Given the description of an element on the screen output the (x, y) to click on. 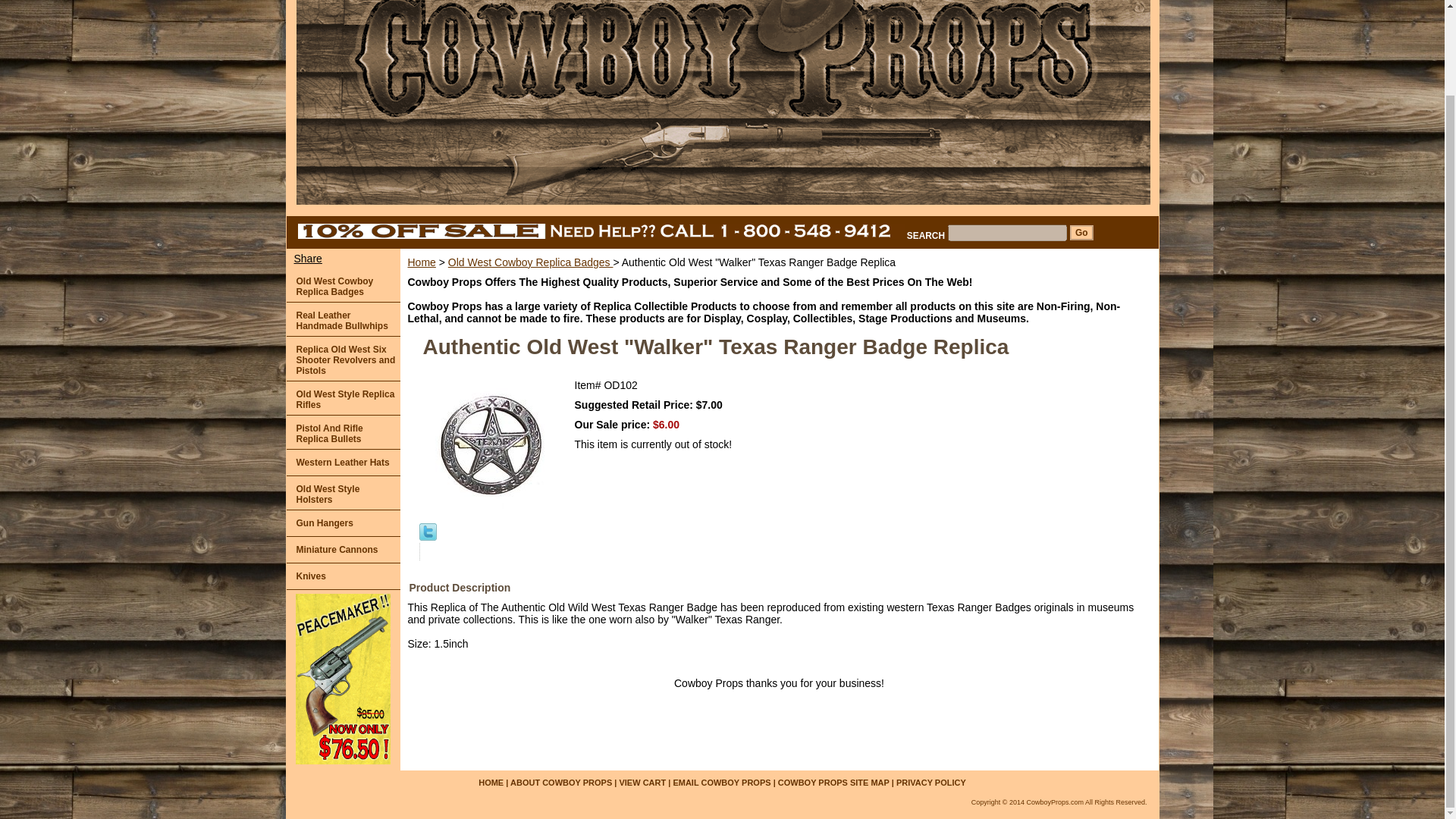
Tweet (427, 536)
PRIVACY POLICY (931, 782)
Miniature Cannons (343, 550)
EMAIL COWBOY PROPS (722, 782)
VIEW CART (641, 782)
Western Leather Hats (343, 462)
Go (1081, 231)
Old West Cowboy Replica Badges (343, 285)
Cowboy Props   (475, 108)
Pistol And Rifle Replica Bullets (343, 432)
Real Leather Handmade Bullwhips (343, 319)
COWBOY PROPS SITE MAP (833, 782)
Western Leather Hats (343, 462)
Gun Hangers (343, 523)
Pistol And Rifle Replica Bullets  (343, 432)
